Given the description of an element on the screen output the (x, y) to click on. 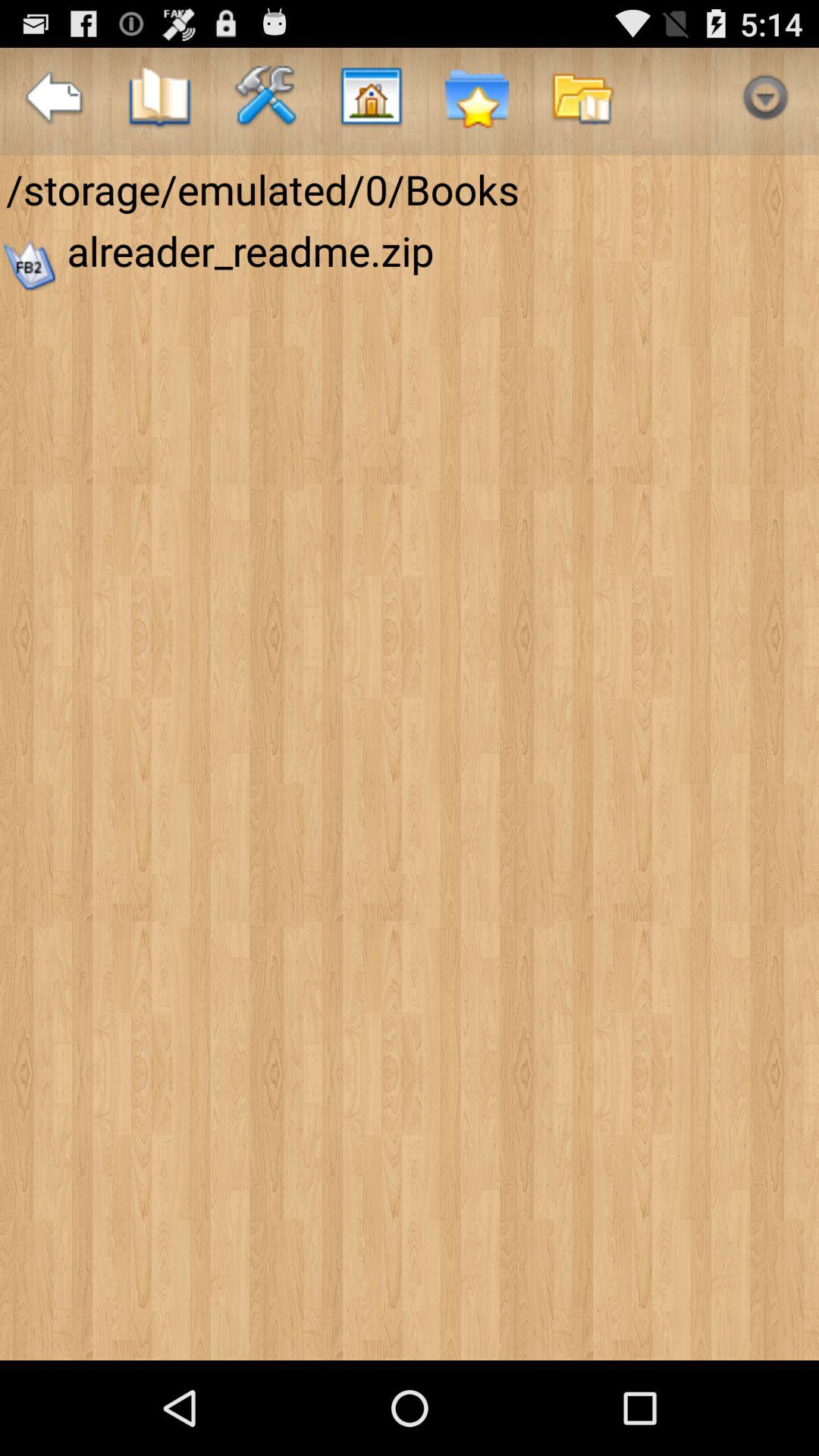
turn off the icon above storage emulated 0 (265, 101)
